Given the description of an element on the screen output the (x, y) to click on. 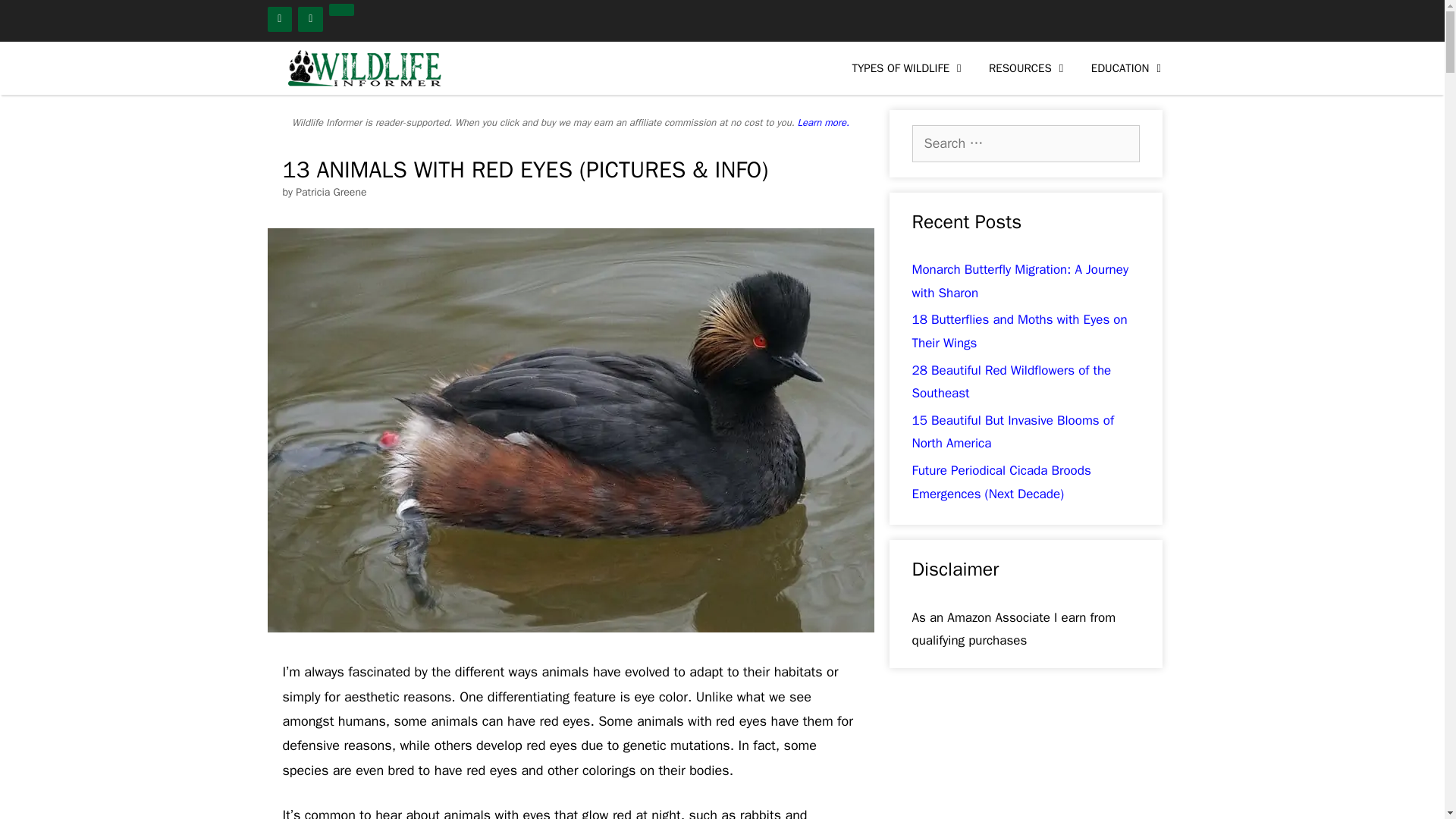
Wildlife Informer (361, 68)
TYPES OF WILDLIFE (908, 68)
View all posts by Patricia Greene (330, 192)
Wildlife Informer (365, 68)
YouTube (310, 18)
Search for: (1024, 143)
RESOURCES (1028, 68)
Facebook (279, 18)
Pinterest (341, 9)
